Given the description of an element on the screen output the (x, y) to click on. 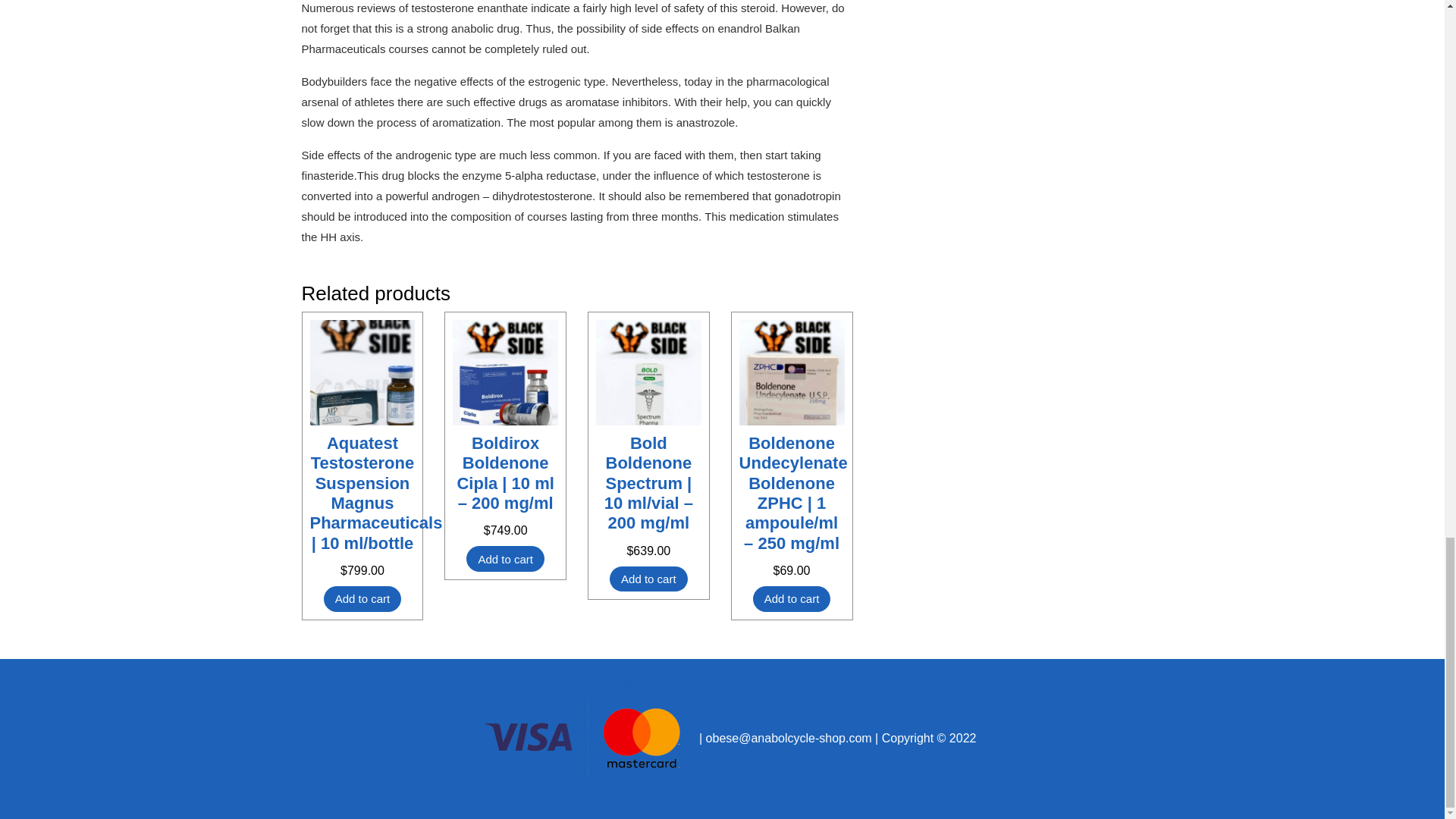
Add to cart (362, 598)
